Given the description of an element on the screen output the (x, y) to click on. 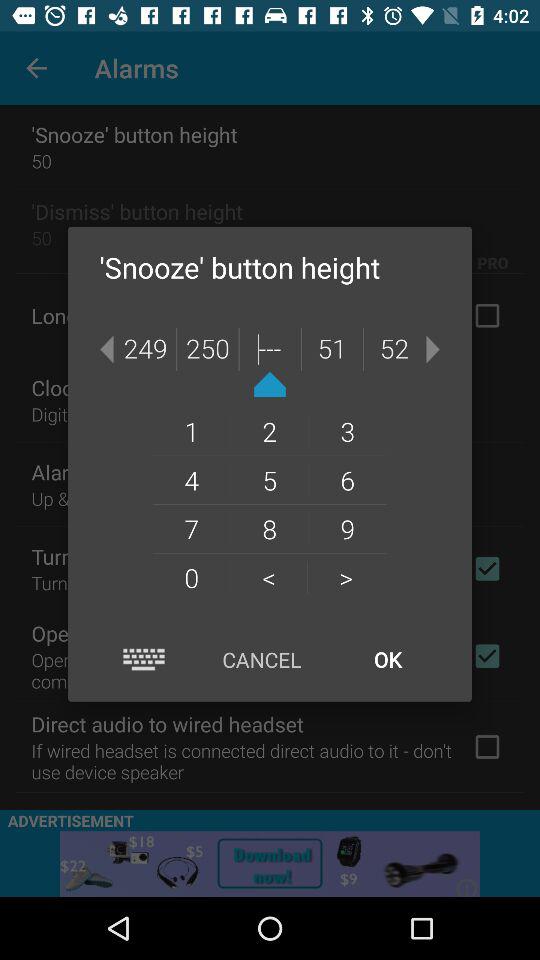
jump until 9 (347, 528)
